Given the description of an element on the screen output the (x, y) to click on. 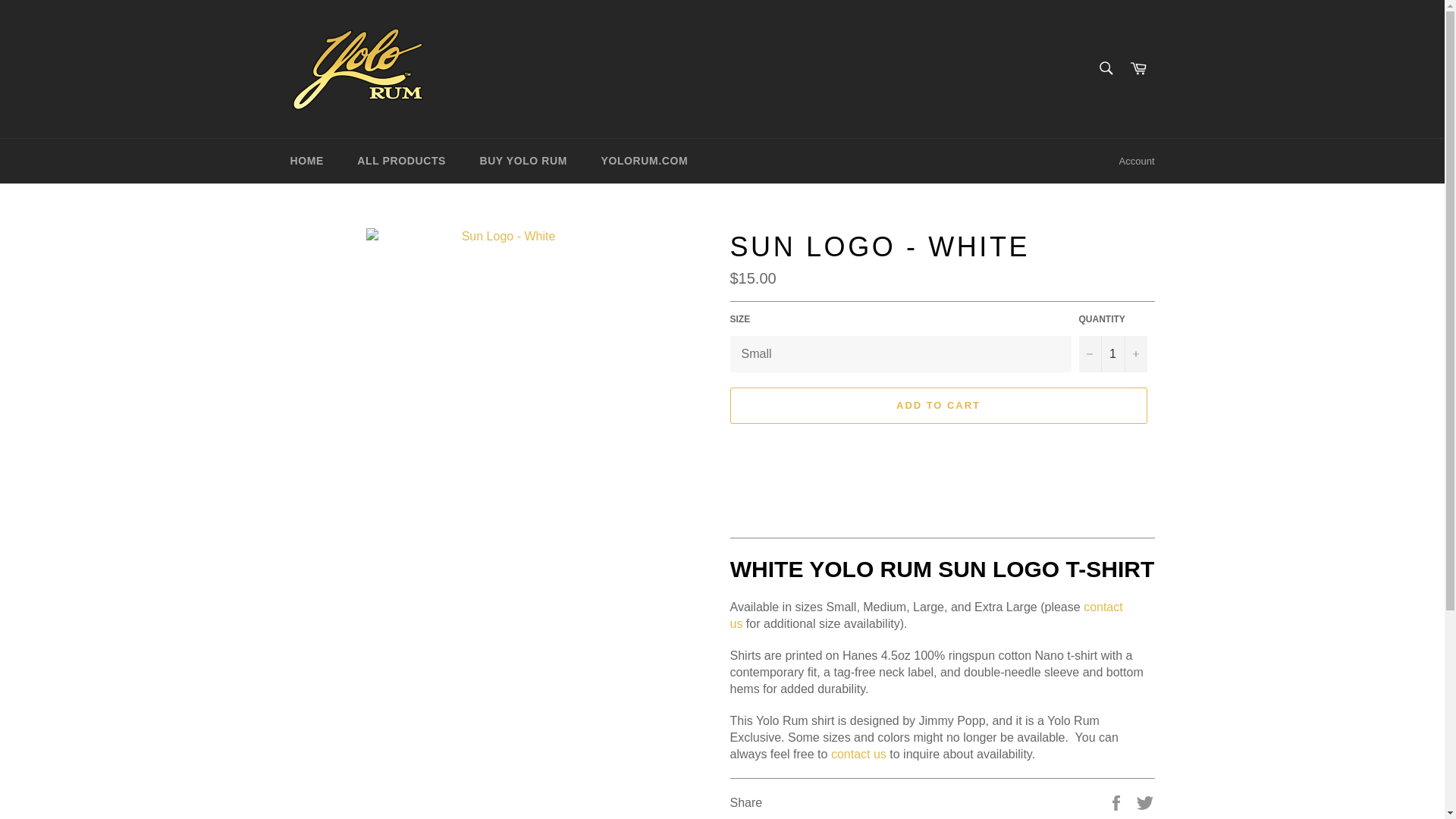
YOLORUM.COM (644, 160)
contact us (925, 614)
ALL PRODUCTS (401, 160)
BUY YOLO RUM (523, 160)
Share on Facebook (1117, 801)
Cart (1138, 68)
HOME (306, 160)
1 (1112, 353)
ADD TO CART (938, 405)
contact us (858, 753)
